Given the description of an element on the screen output the (x, y) to click on. 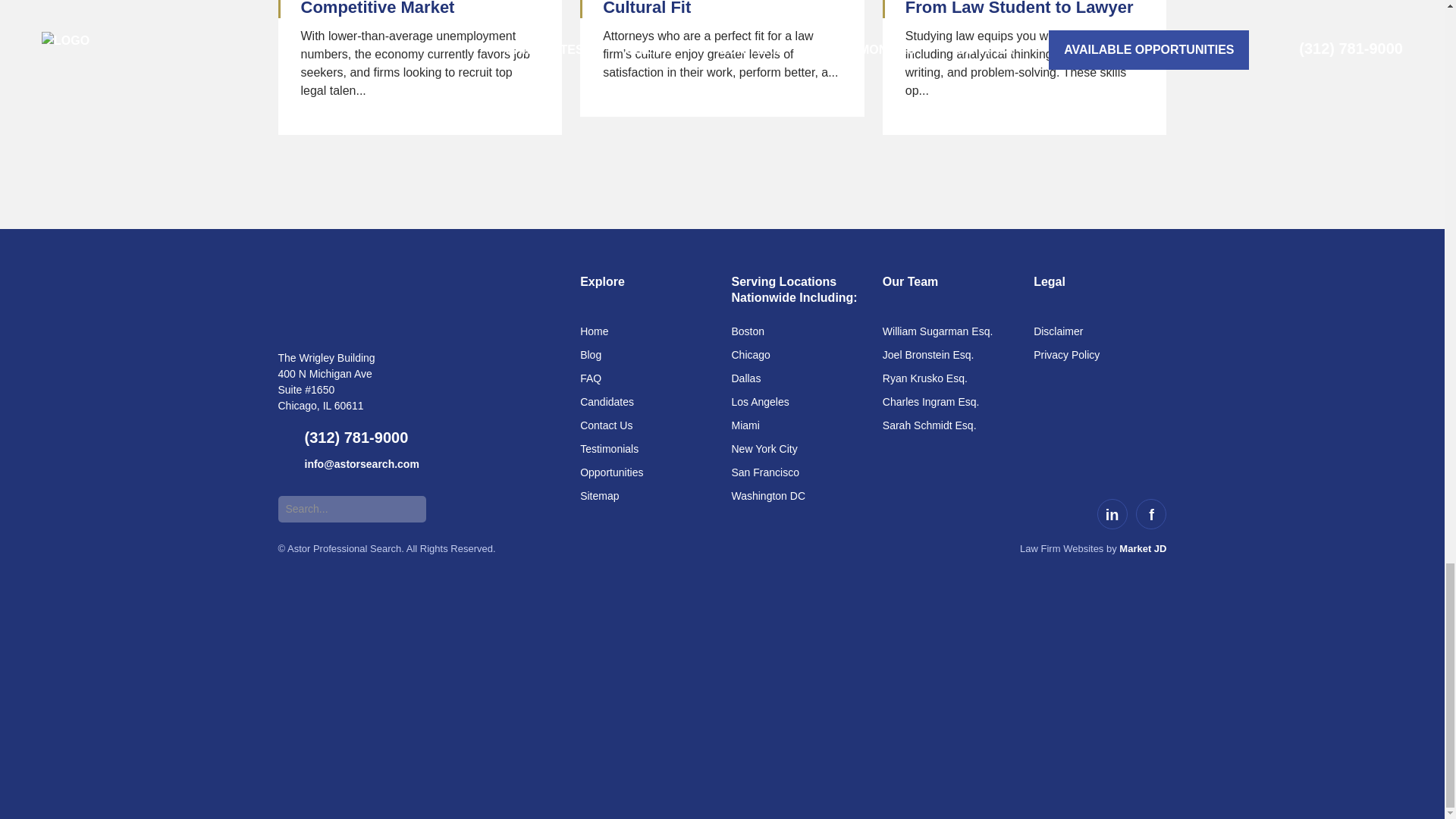
Finding a Firm with the Right Cultural Fit (717, 8)
Winning Top Legal Talent in a Competitive Market (416, 8)
The Legal Career Guide: From Law Student to Lawyer (1019, 8)
